Given the description of an element on the screen output the (x, y) to click on. 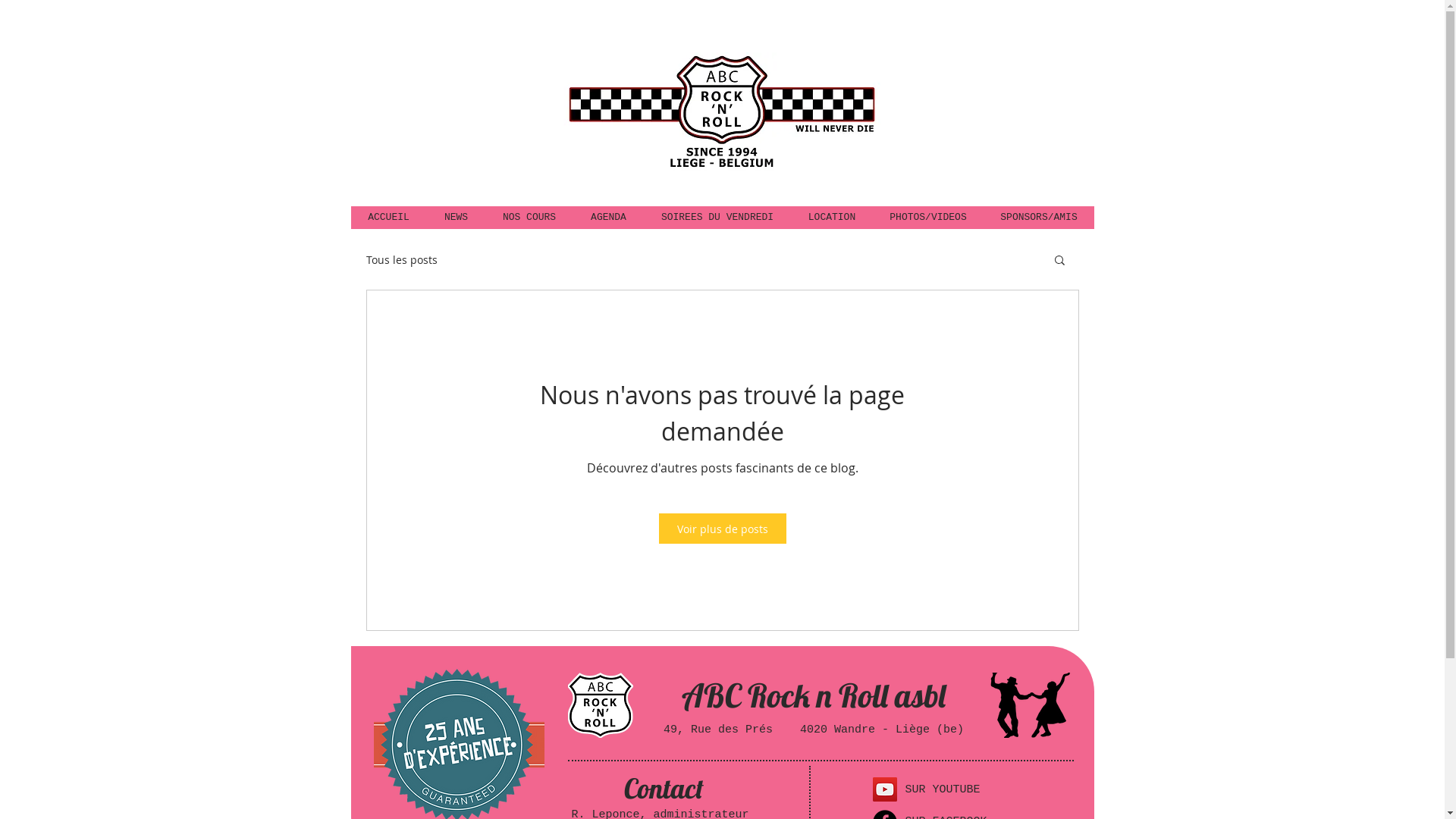
Tous les posts Element type: text (400, 258)
NOS COURS Element type: text (529, 217)
SOIREES DU VENDREDI Element type: text (716, 217)
Voir plus de posts Element type: text (721, 528)
AGENDA Element type: text (608, 217)
ACCUEIL Element type: text (388, 217)
PHOTOS/VIDEOS Element type: text (927, 217)
LOCATION Element type: text (831, 217)
SPONSORS/AMIS Element type: text (1037, 217)
NEWS Element type: text (455, 217)
